Given the description of an element on the screen output the (x, y) to click on. 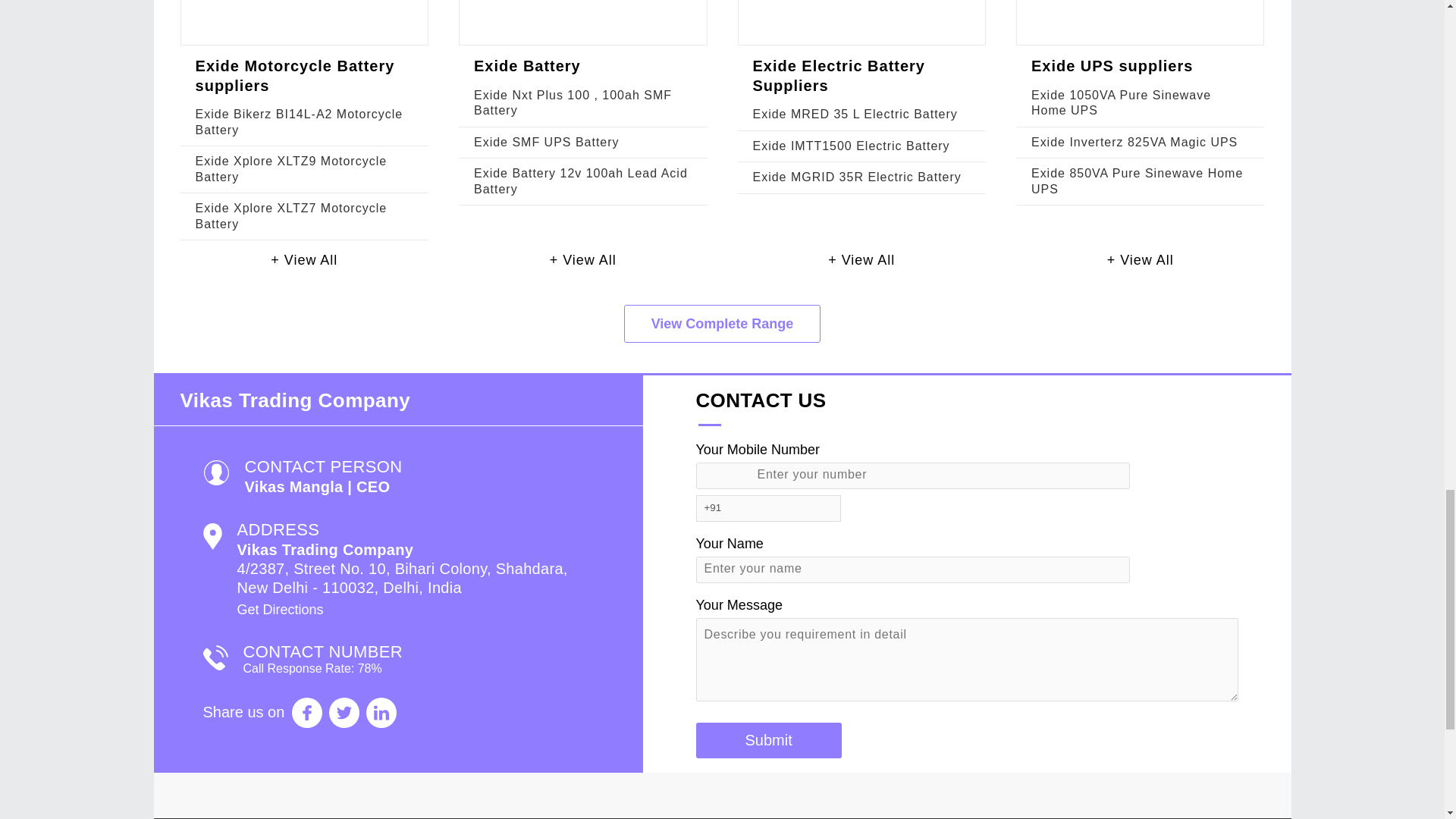
Submit (768, 740)
